Given the description of an element on the screen output the (x, y) to click on. 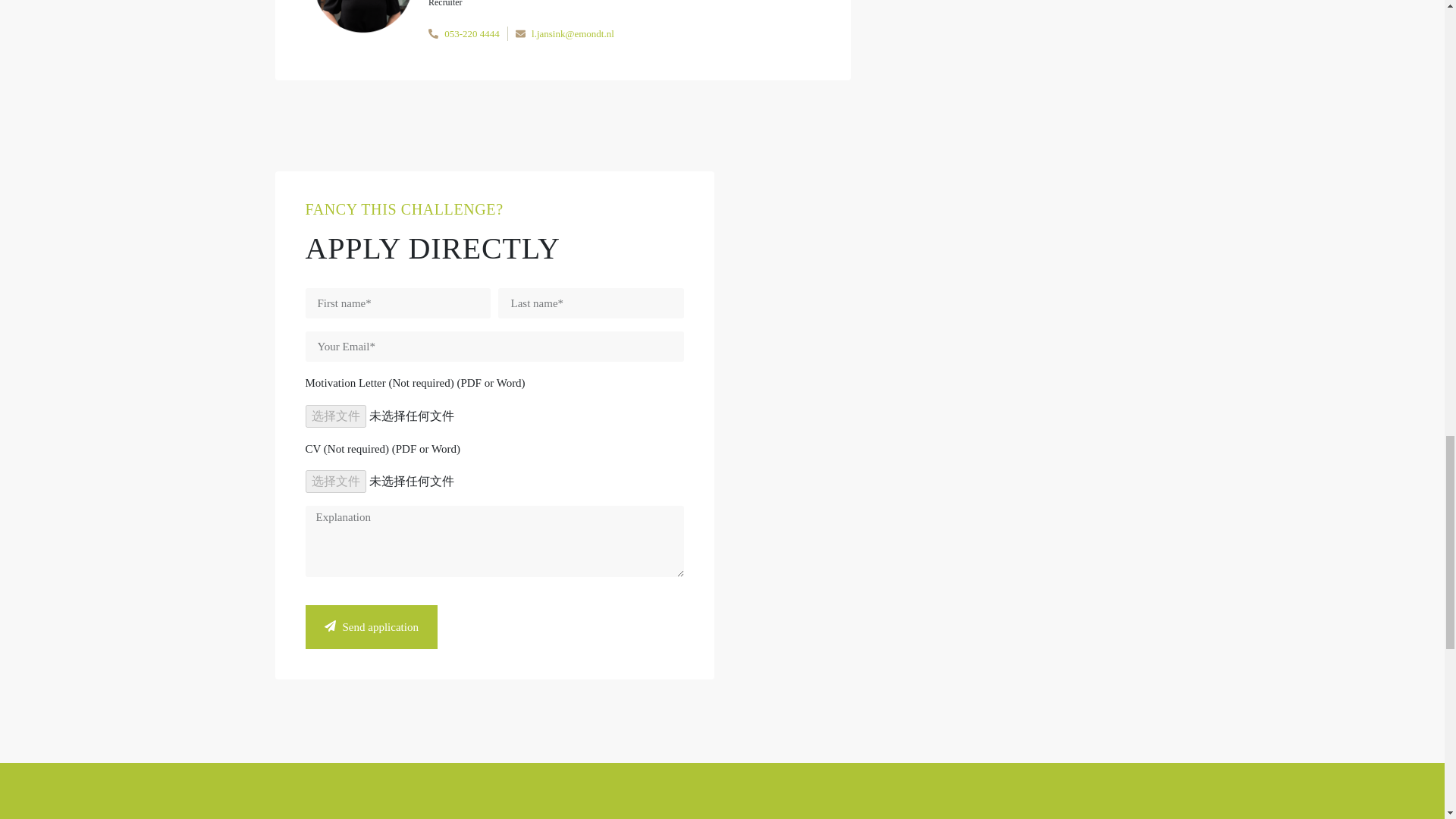
APPLY DIRECTLY (431, 247)
Send application (370, 627)
053-220 4444 (471, 33)
